Given the description of an element on the screen output the (x, y) to click on. 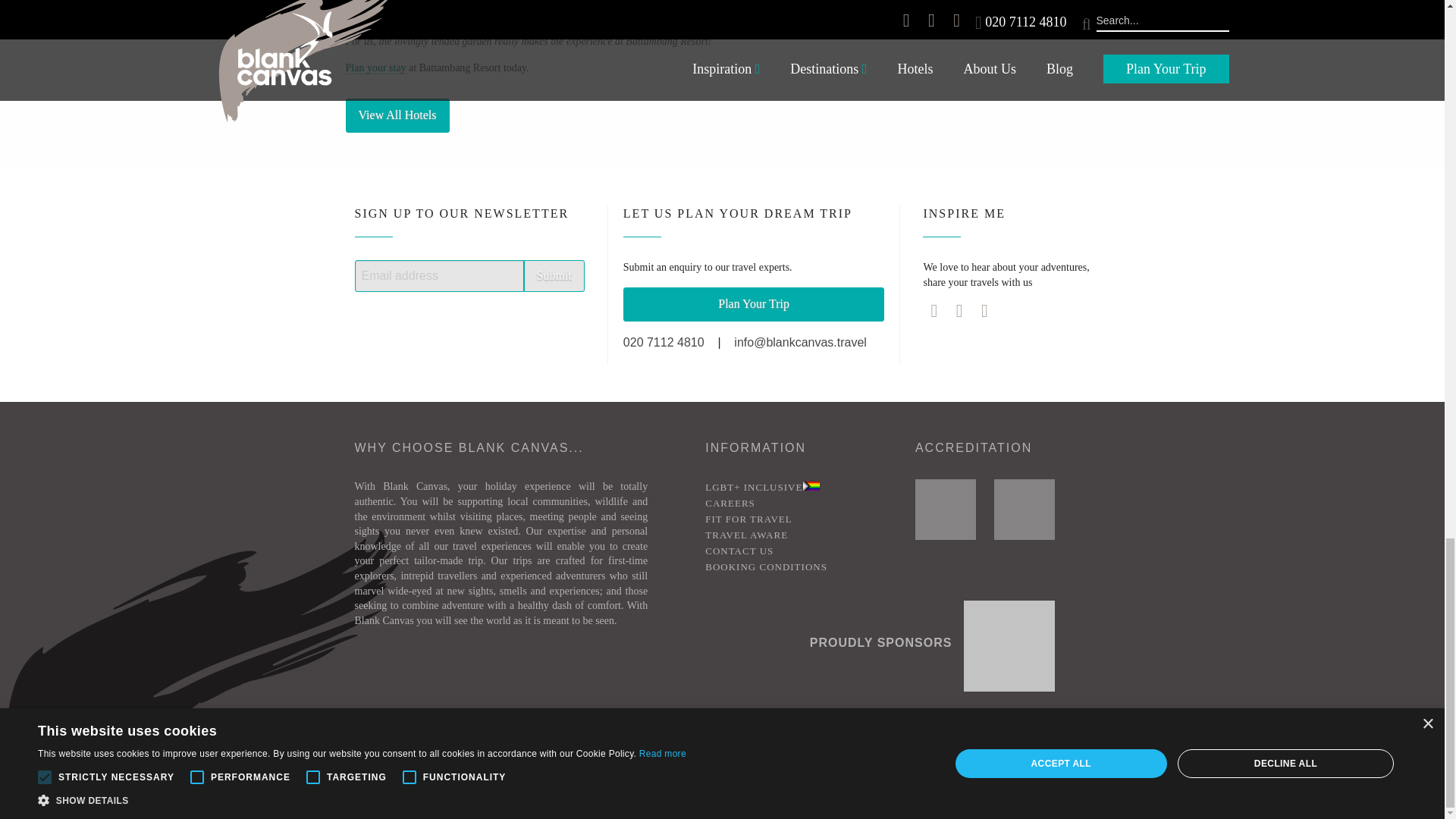
Submit (554, 275)
